Given the description of an element on the screen output the (x, y) to click on. 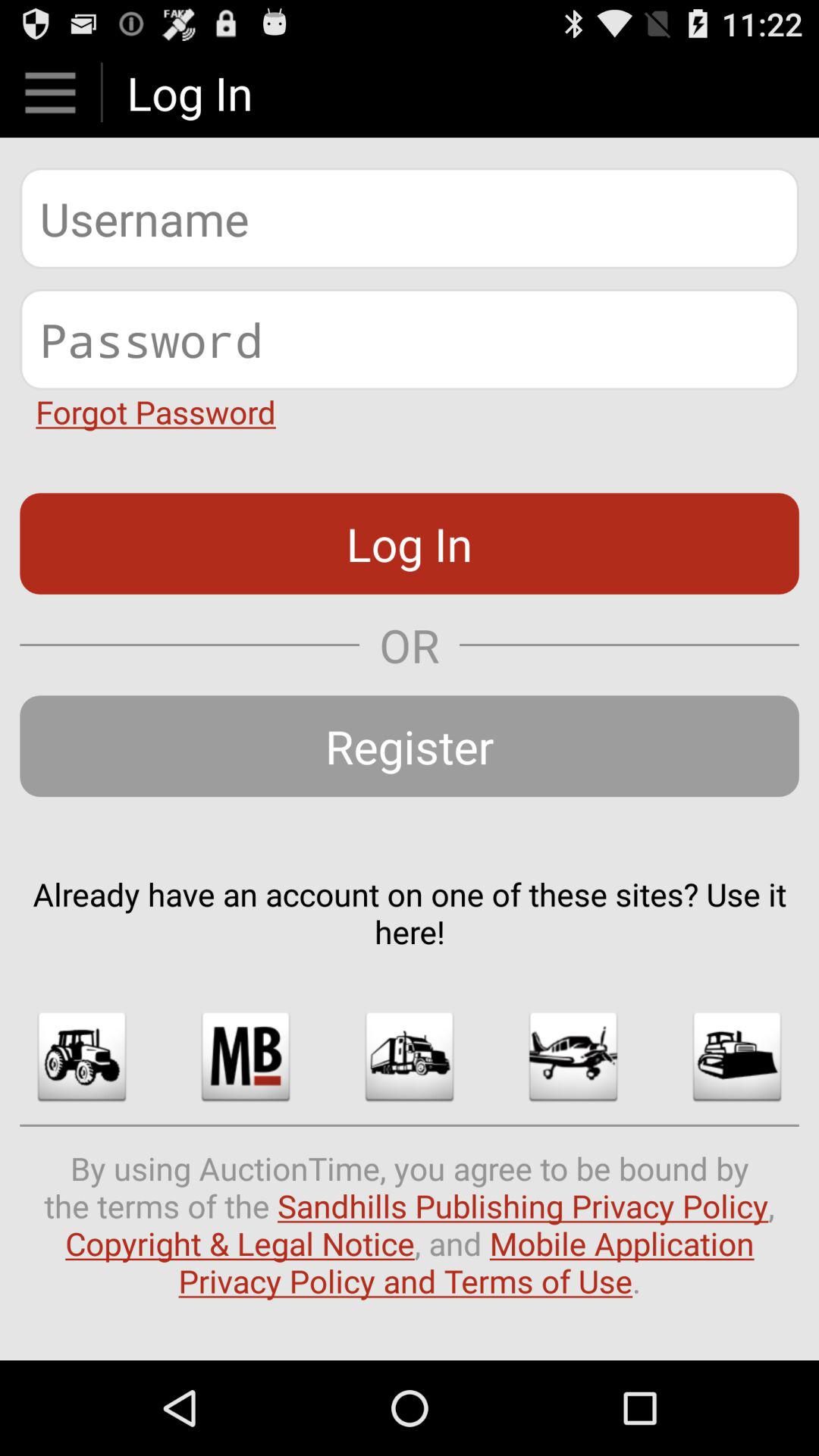
shows the plane mode (573, 1056)
